Given the description of an element on the screen output the (x, y) to click on. 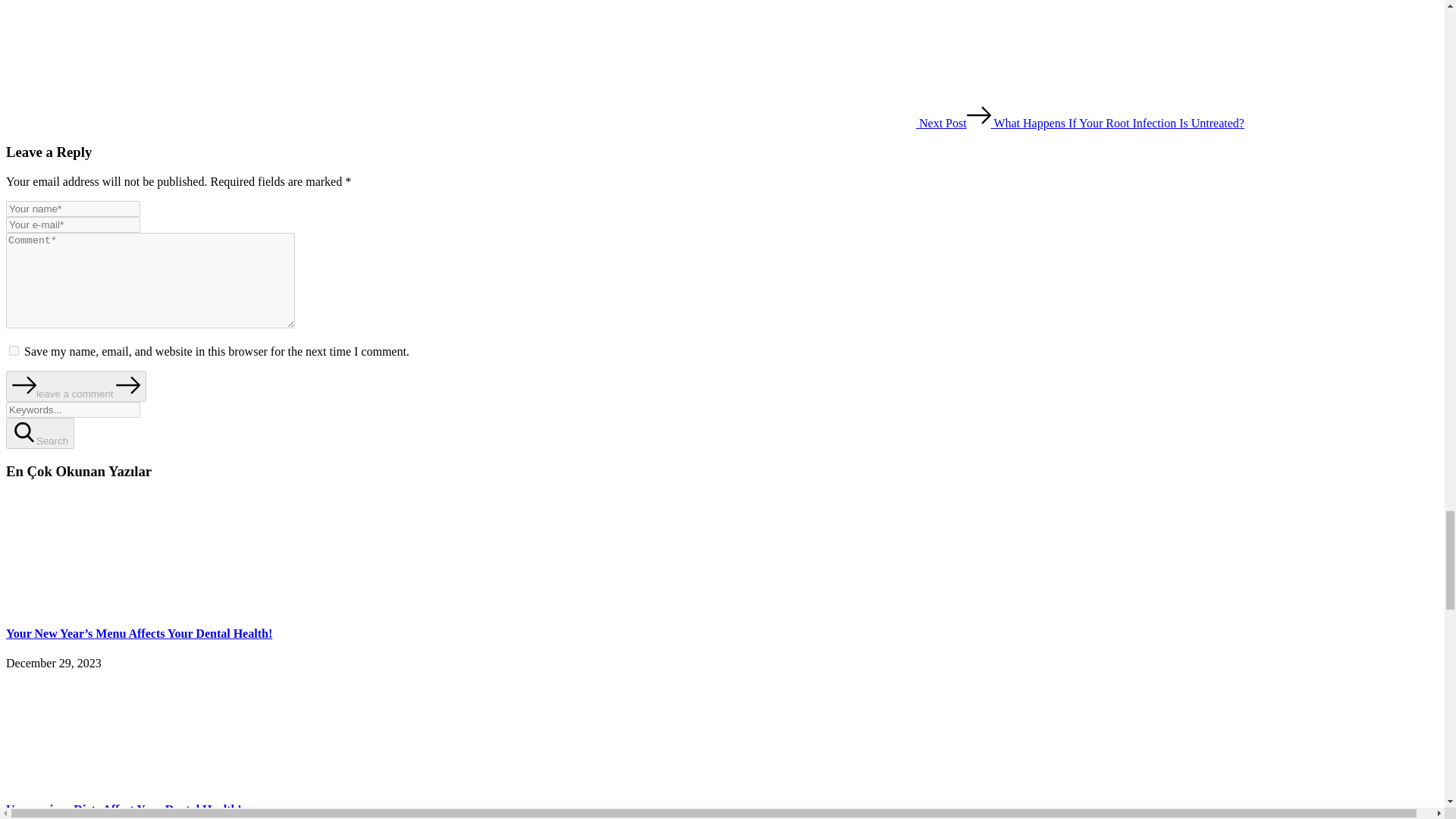
yes (13, 350)
